Given the description of an element on the screen output the (x, y) to click on. 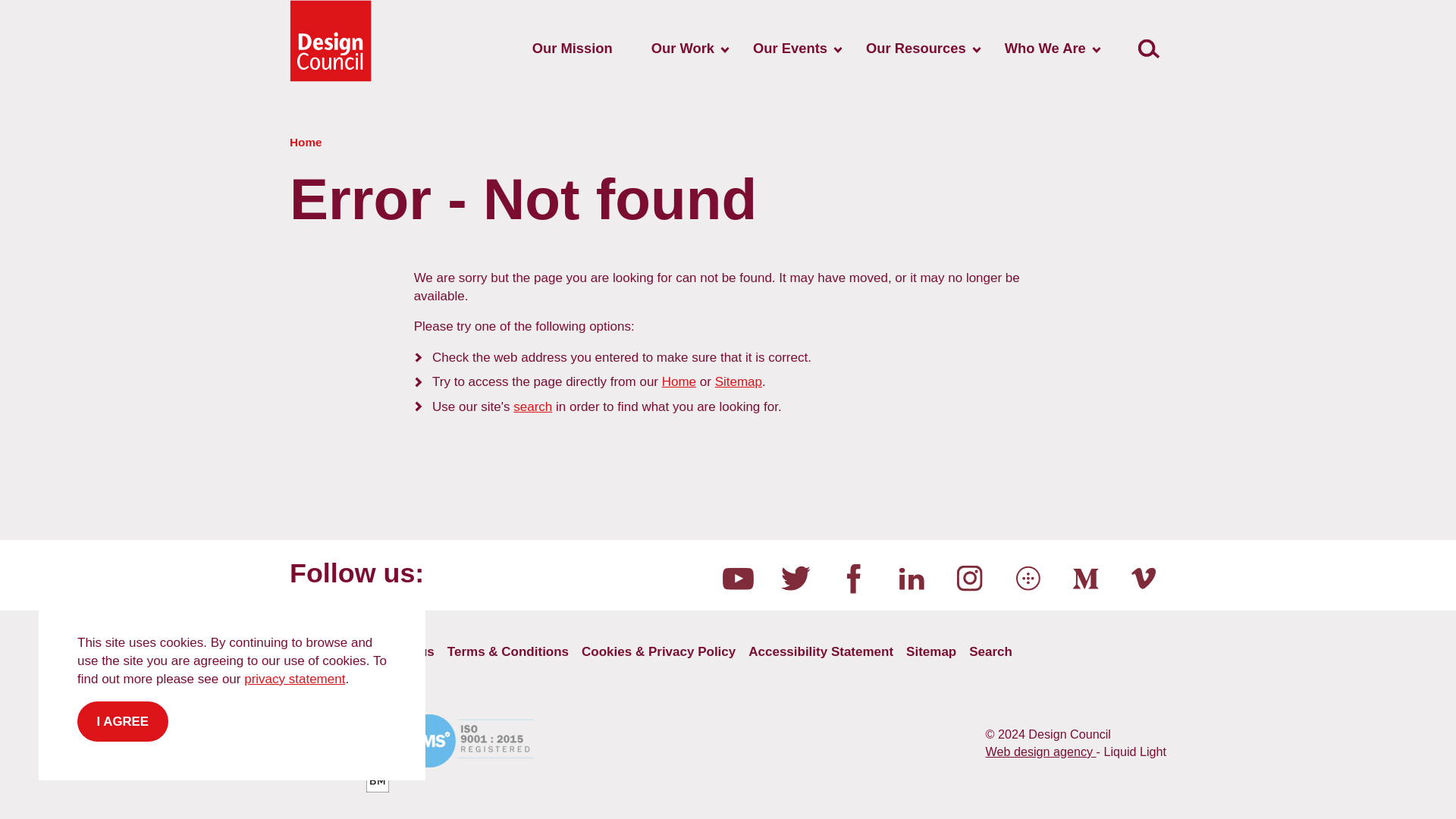
Design Council on Medium (1085, 578)
Follow Design Council on Twitter (795, 578)
Design Council on Instagram (969, 578)
Opens internal link in current window (532, 406)
Our Resources (915, 48)
Design Council on YouTube (737, 578)
Our Events (790, 48)
Our Mission (571, 48)
Design Council - Design for Planet (330, 40)
Our Work (682, 48)
Search (1148, 48)
Who We Are (1045, 48)
Design Council on Facebook (853, 578)
Follow Design Council on LinkedIn (911, 578)
Design Council on The Dots (1028, 578)
